Given the description of an element on the screen output the (x, y) to click on. 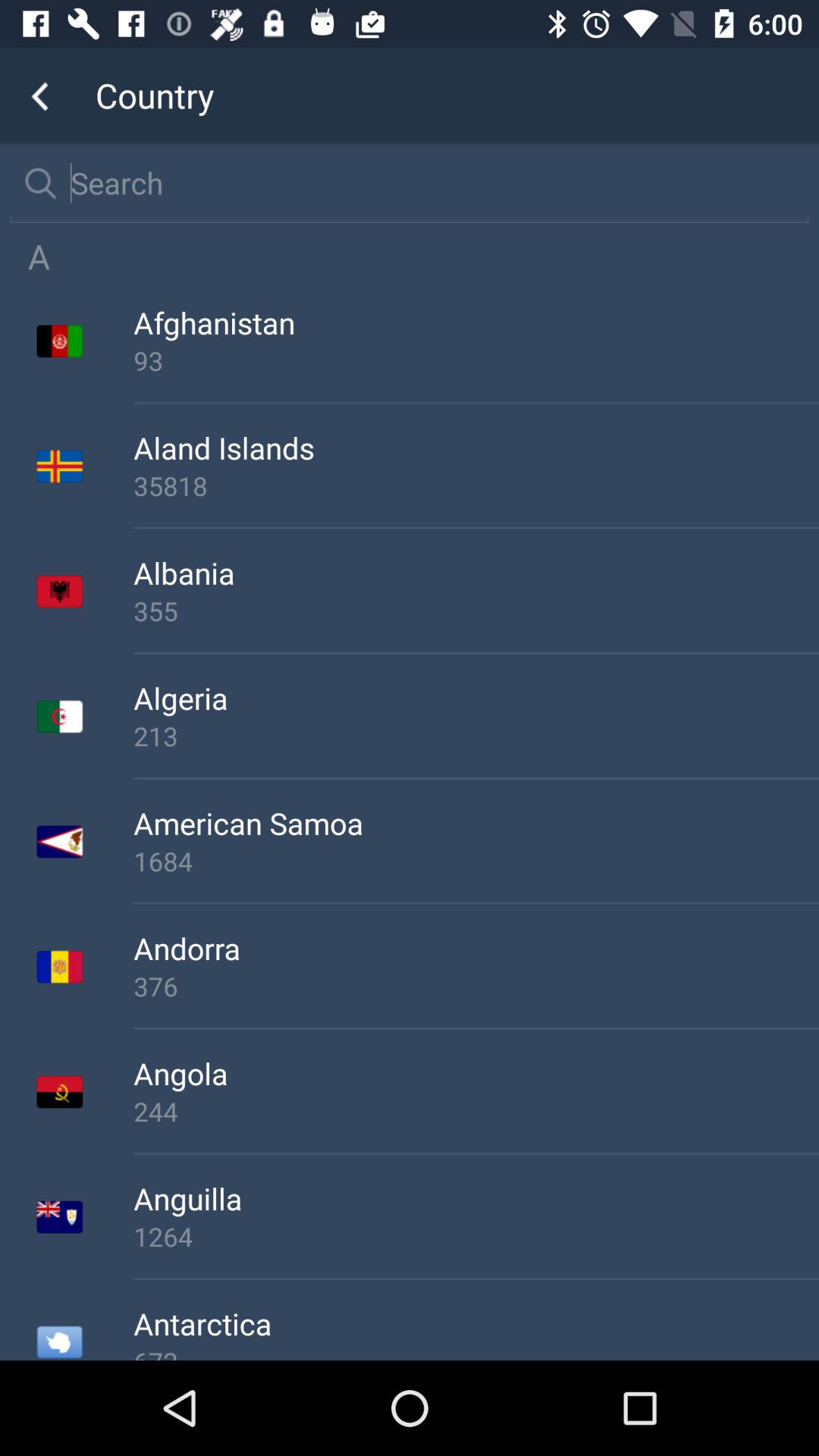
turn on icon above 213 item (476, 697)
